Given the description of an element on the screen output the (x, y) to click on. 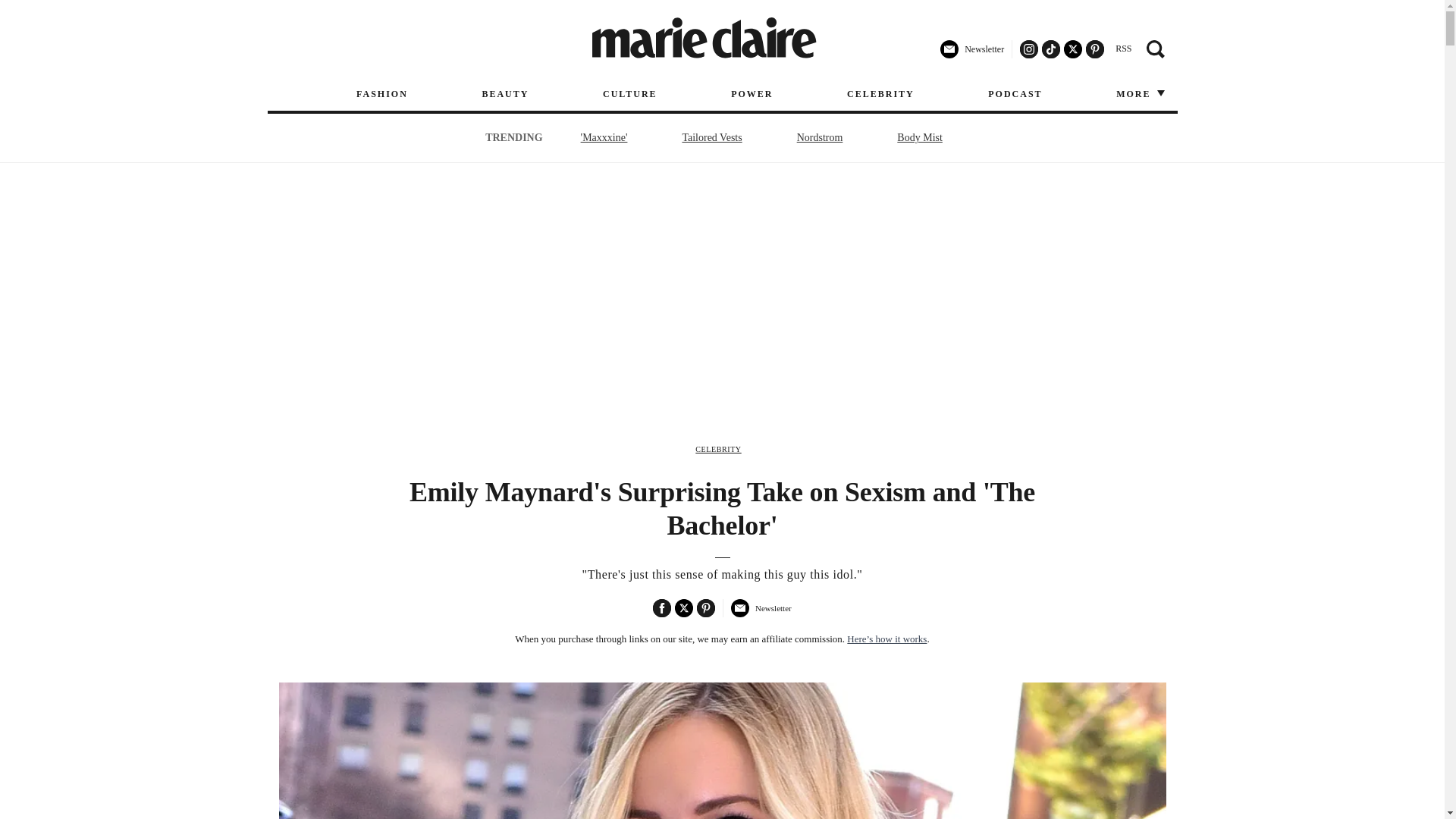
BEAUTY (504, 94)
Body Mist (919, 137)
Nordstrom (820, 137)
PODCAST (1015, 94)
RSS (1123, 48)
CELEBRITY (718, 449)
Newsletter (760, 614)
POWER (751, 94)
'Maxxxine' (604, 137)
Tailored Vests (711, 137)
CELEBRITY (880, 94)
Really Simple Syndication (1123, 48)
Newsletter (972, 54)
CULTURE (630, 94)
FASHION (381, 94)
